Given the description of an element on the screen output the (x, y) to click on. 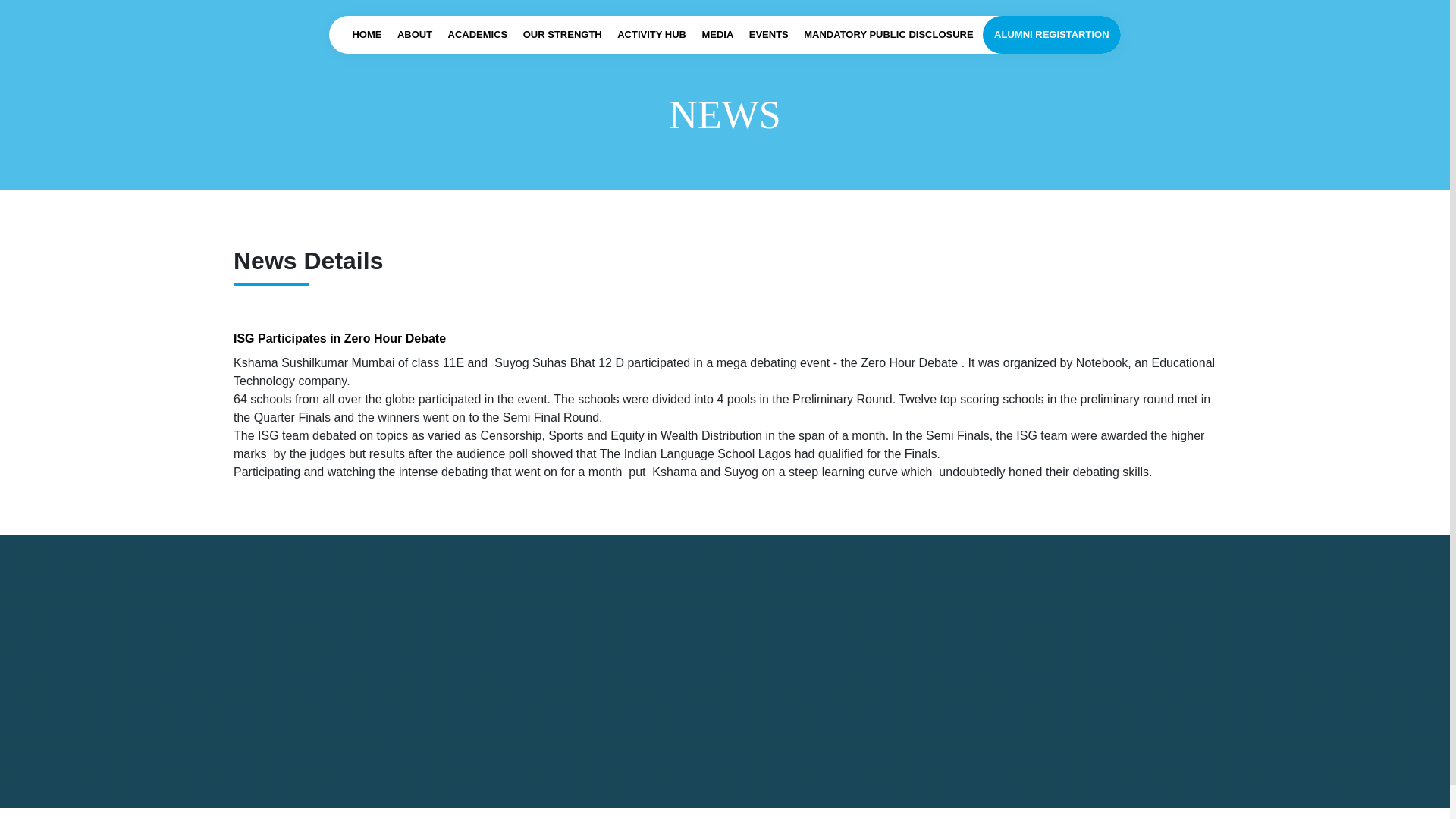
ACADEMICS (478, 34)
OUR STRENGTH (562, 34)
ABOUT (414, 34)
ACTIVITY HUB (651, 34)
